Given the description of an element on the screen output the (x, y) to click on. 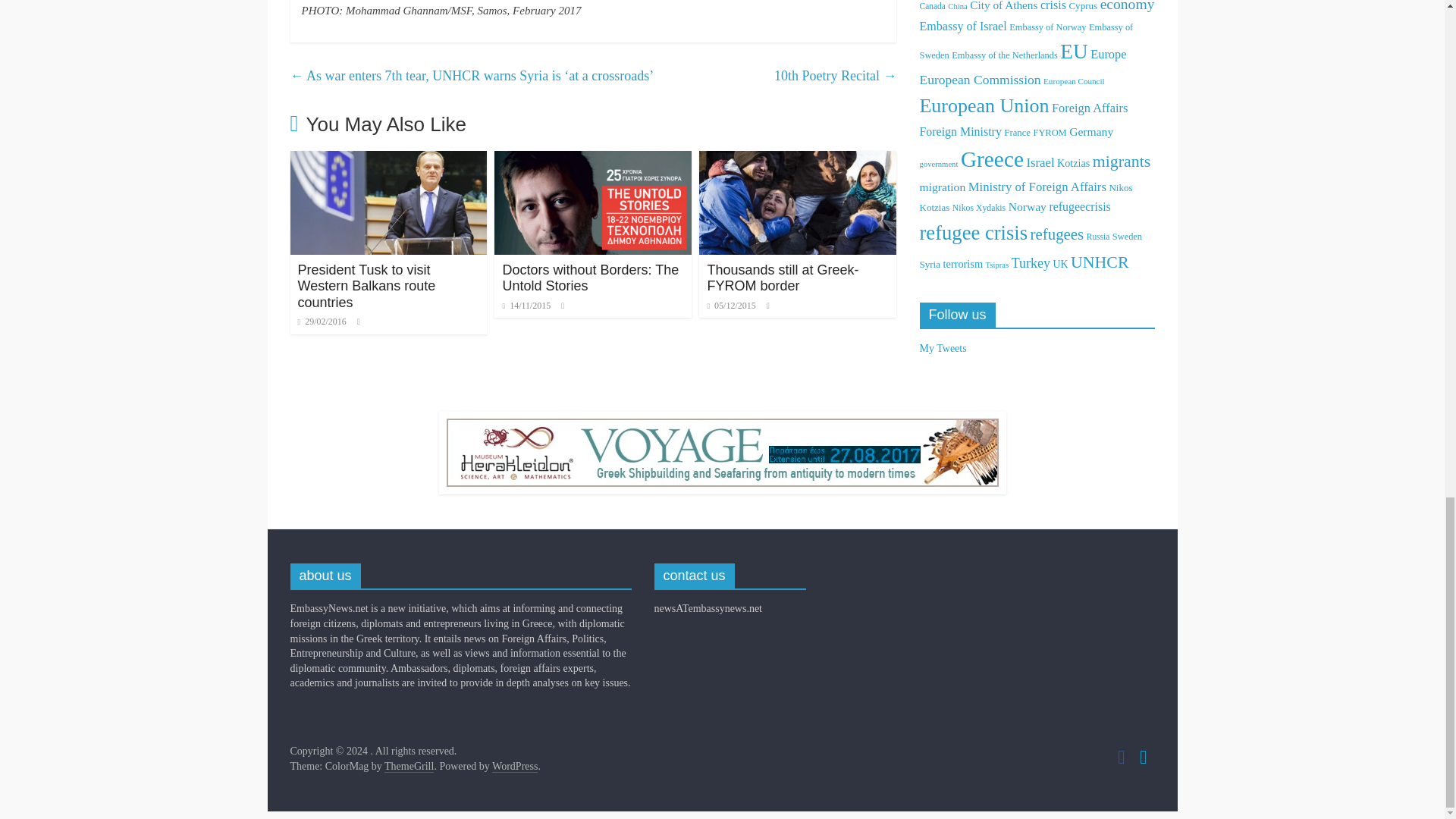
11:16 pm (321, 321)
President Tusk to visit Western Balkans route countries (366, 286)
President Tusk to visit Western Balkans route countries (387, 160)
